Given the description of an element on the screen output the (x, y) to click on. 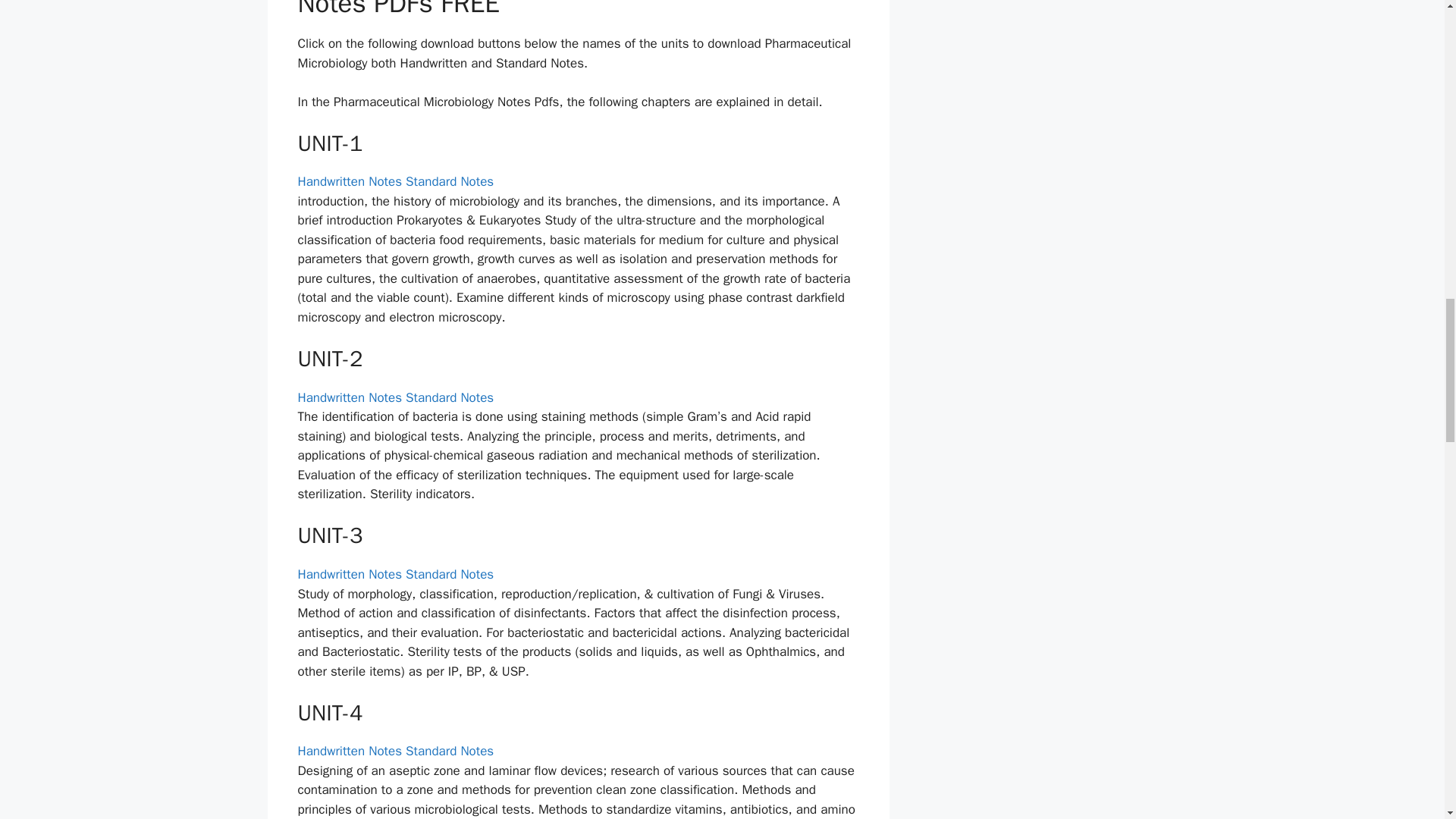
Handwritten Notes (349, 181)
Standard Notes (449, 397)
Standard Notes (449, 181)
Handwritten Notes (349, 397)
